Given the description of an element on the screen output the (x, y) to click on. 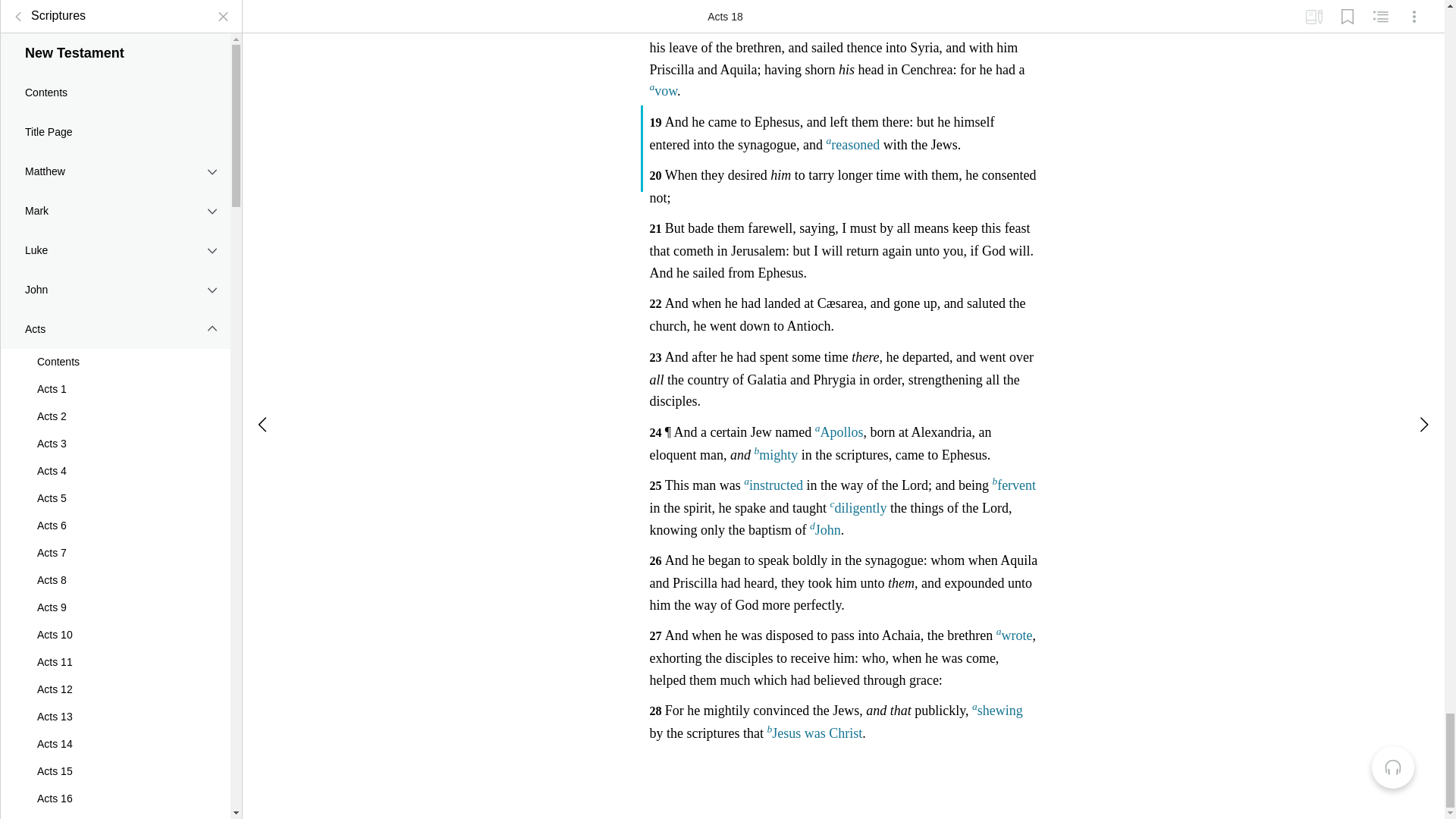
1 Corinthians (115, 11)
